Given the description of an element on the screen output the (x, y) to click on. 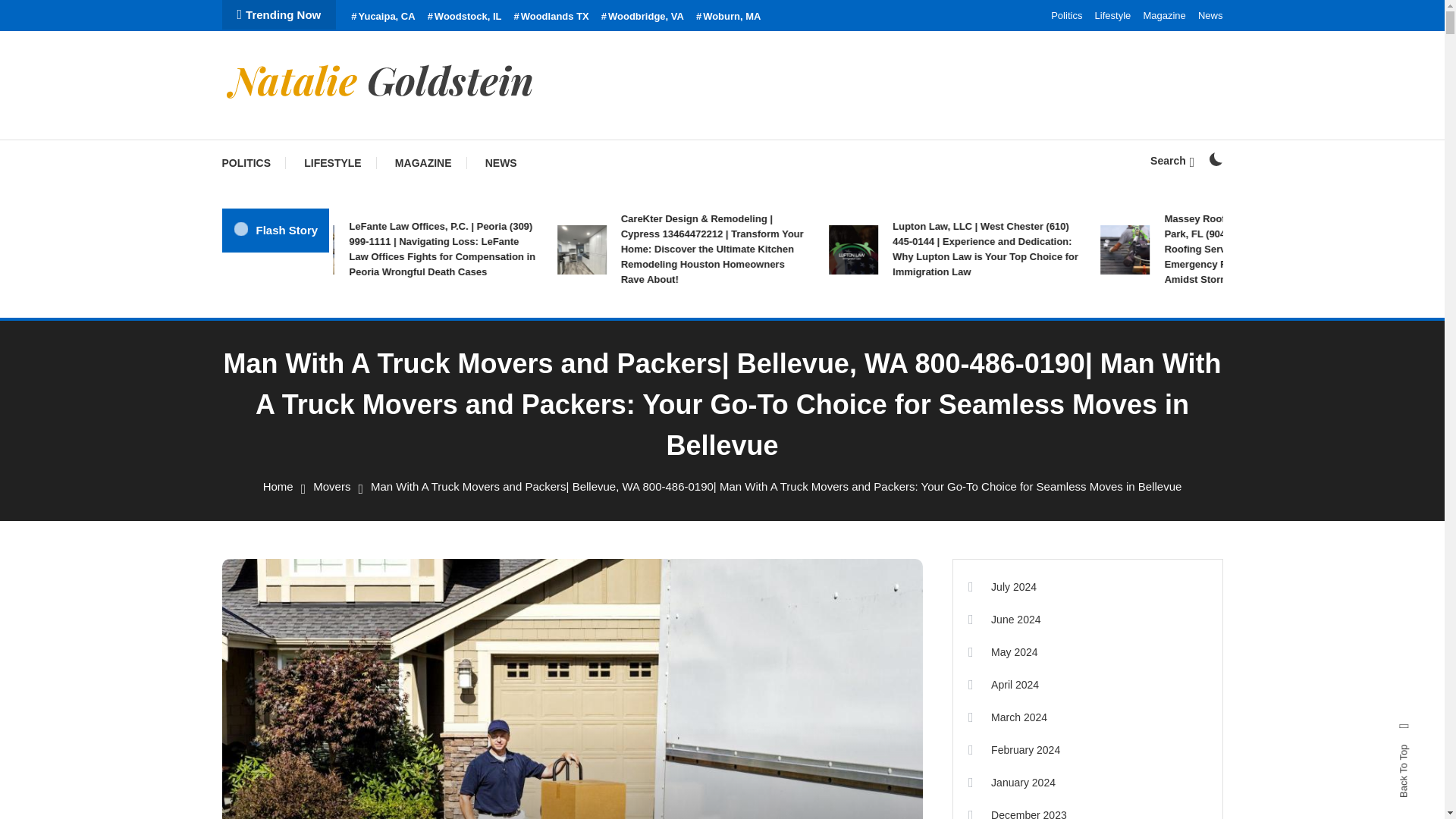
Politics (1066, 15)
Search (1171, 160)
Home (278, 486)
Magazine (1163, 15)
Yucaipa, CA (382, 16)
Woodbridge, VA (642, 16)
on (1215, 159)
News (1210, 15)
Search (768, 434)
Woodstock, IL (465, 16)
NEWS (501, 162)
Lifestyle (1112, 15)
POLITICS (253, 162)
Woburn, MA (728, 16)
Movers (331, 486)
